Given the description of an element on the screen output the (x, y) to click on. 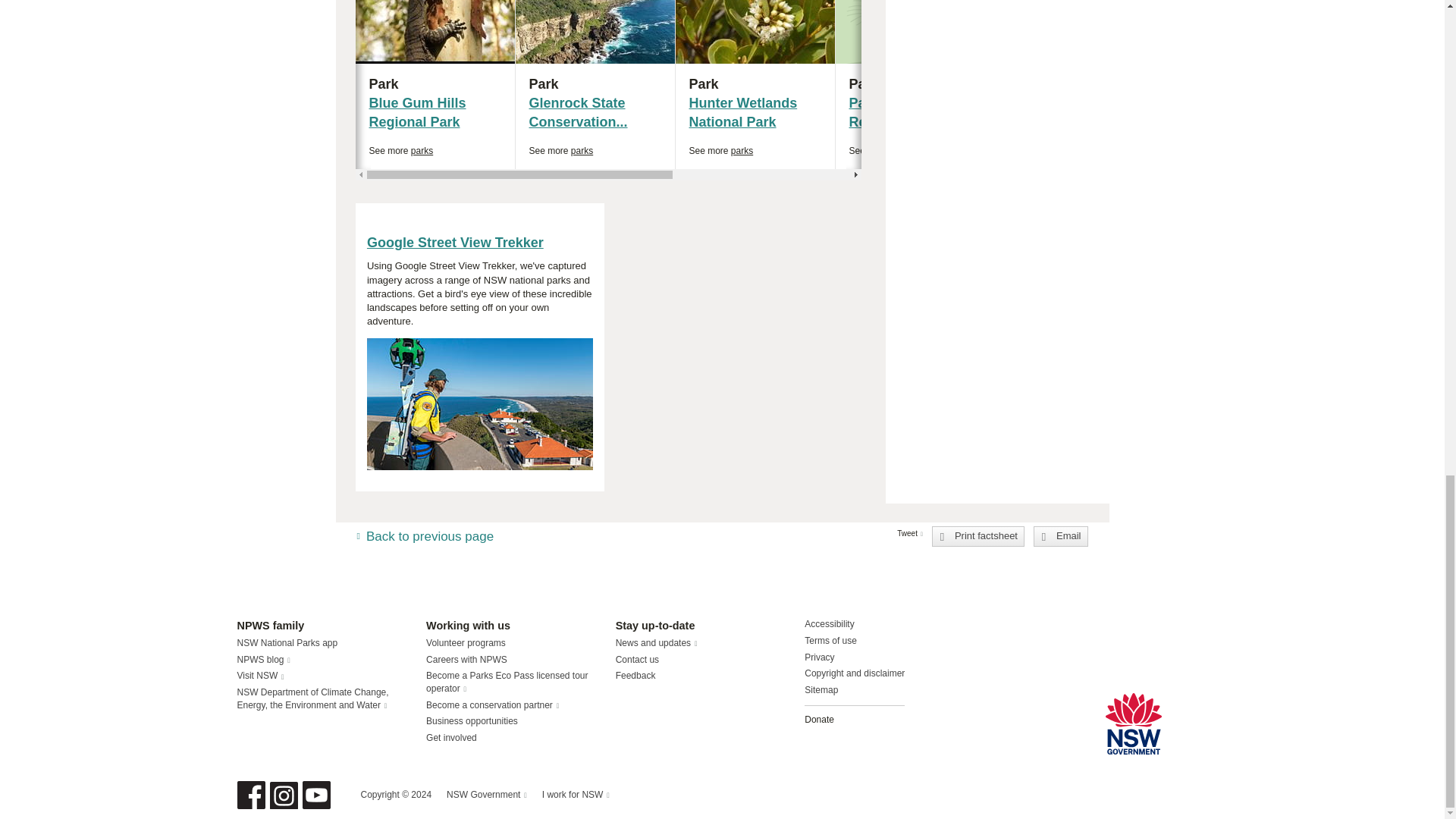
Park (595, 84)
See more parks (434, 84)
See more parks (561, 151)
See more parks (1041, 151)
See more parks (881, 151)
Park (915, 84)
Park (720, 151)
Park (1074, 84)
See more parks (754, 84)
